Given the description of an element on the screen output the (x, y) to click on. 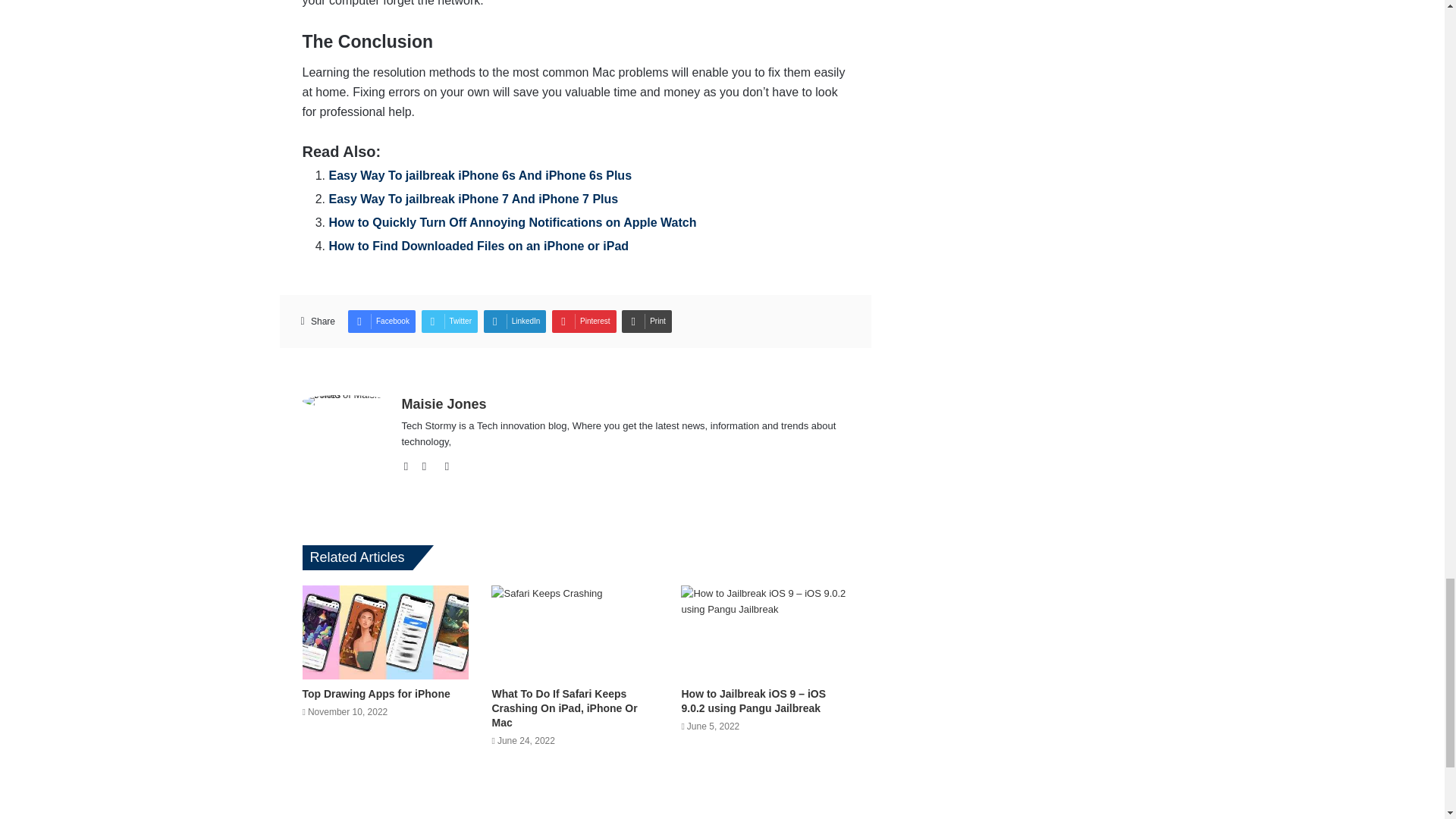
Easy Way To jailbreak iPhone 6s And iPhone 6s Plus (480, 174)
How to Find Downloaded Files on an iPhone or iPad (478, 245)
Facebook (380, 321)
Easy Way To jailbreak iPhone 7 And iPhone 7 Plus (473, 198)
How to Find Downloaded Files on an iPhone or iPad (478, 245)
Easy Way To jailbreak iPhone 7 And iPhone 7 Plus (473, 198)
Easy Way To jailbreak iPhone 6s And iPhone 6s Plus (480, 174)
